Given the description of an element on the screen output the (x, y) to click on. 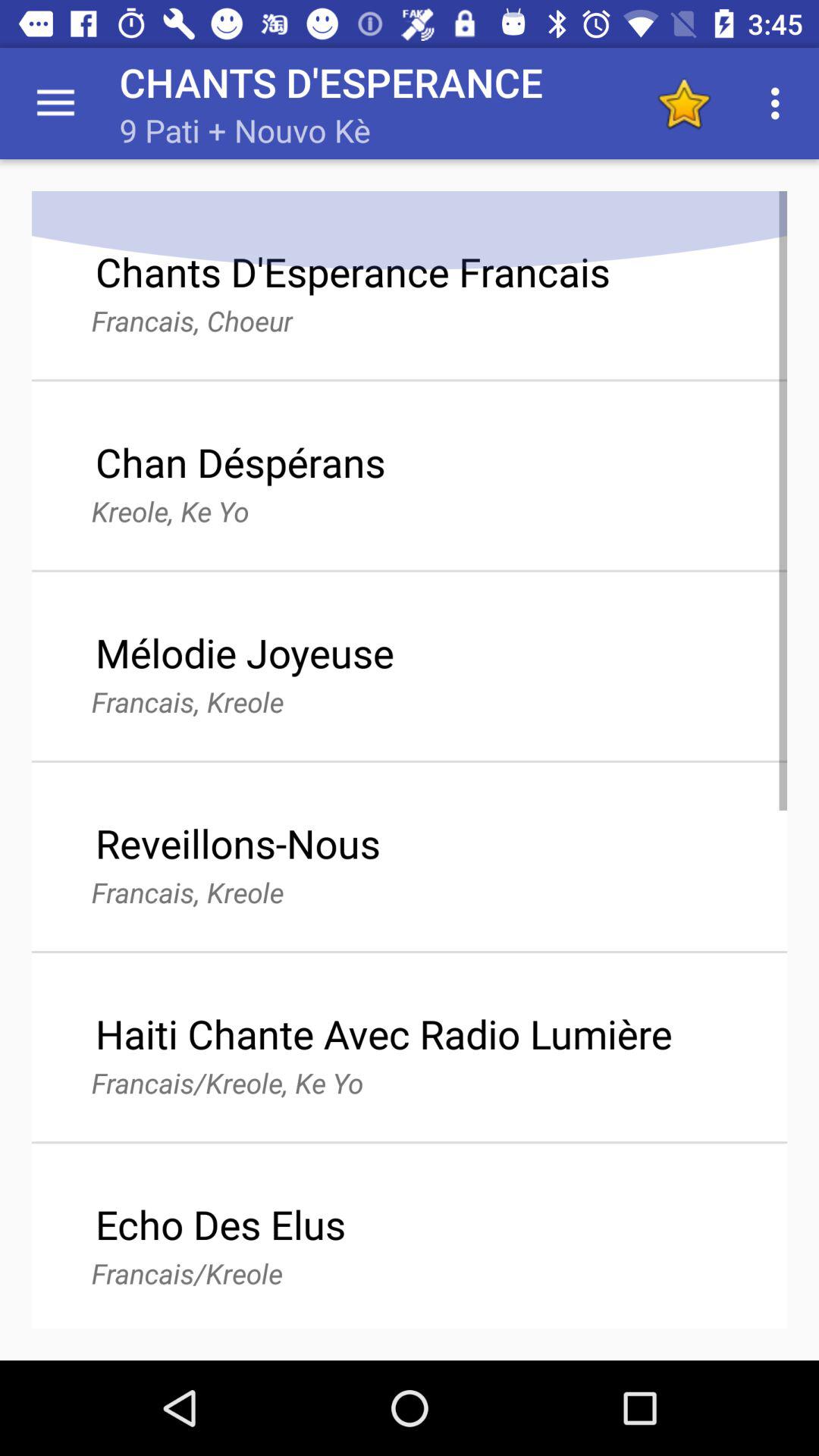
choose the item below kreole, ke yo (244, 652)
